Given the description of an element on the screen output the (x, y) to click on. 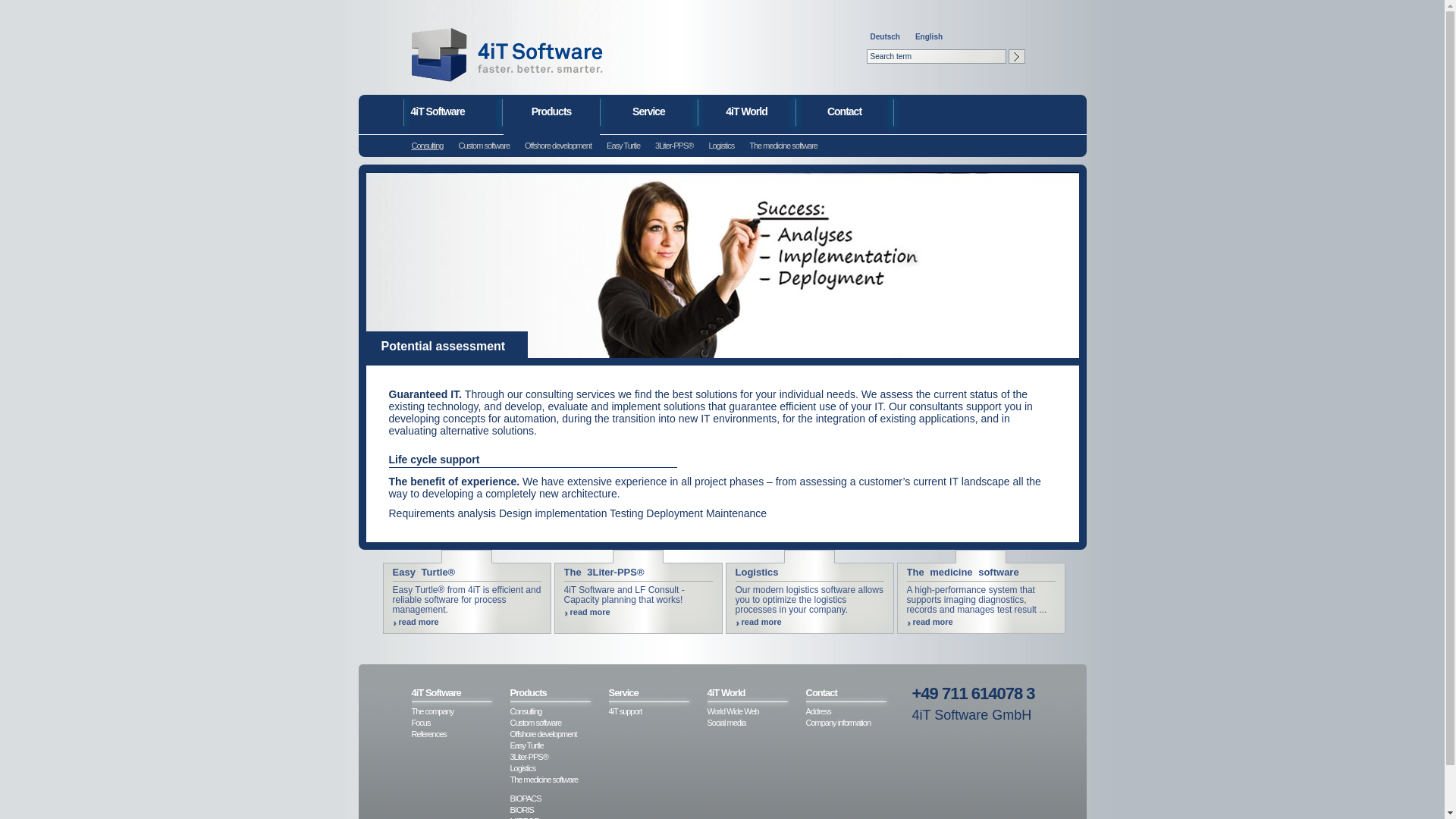
References (459, 734)
Products (558, 692)
Offshore development (557, 145)
4iT Software (444, 113)
Custom software (558, 722)
Deutsch (884, 36)
Logistics (720, 145)
Easy Turtle (558, 745)
read more (809, 622)
English (928, 36)
Products (551, 125)
Offshore development (558, 734)
read more (467, 622)
Easy Turtle (623, 145)
